Given the description of an element on the screen output the (x, y) to click on. 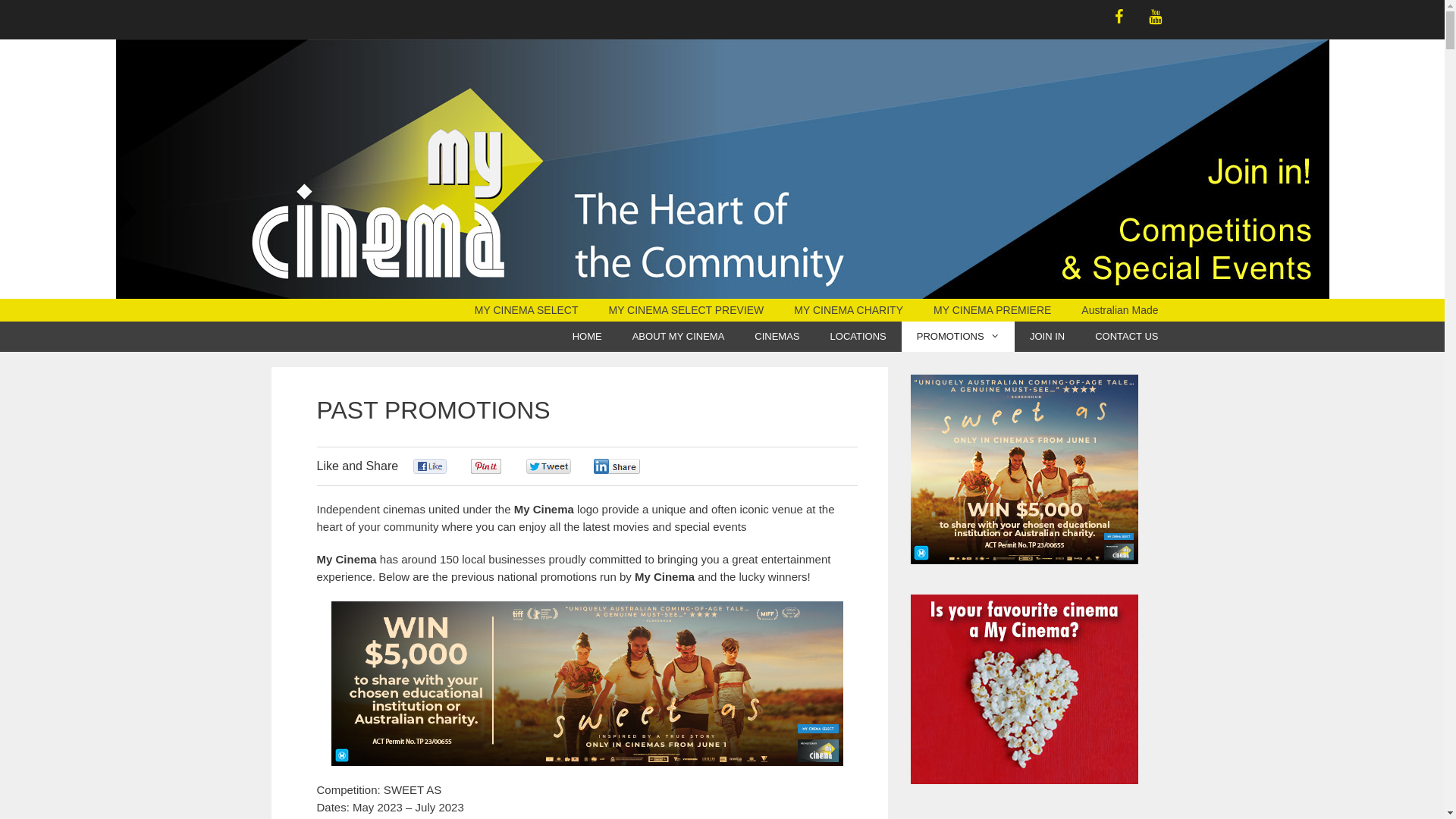
MY CINEMA SELECT Element type: text (526, 309)
Facebook Element type: hover (1119, 17)
CINEMAS Element type: text (776, 336)
My Cinema Element type: hover (721, 168)
MY CINEMA SELECT PREVIEW Element type: text (685, 309)
MY CINEMA CHARITY Element type: text (848, 309)
Australian Made Element type: text (1119, 309)
My Cinema Element type: hover (721, 167)
Be the first one to tweet this article! Element type: hover (564, 466)
HOME Element type: text (587, 336)
LOCATIONS Element type: text (858, 336)
PROMOTIONS Element type: text (957, 336)
YouTube Element type: hover (1155, 17)
MY CINEMA PREMIERE Element type: text (992, 309)
CONTACT US Element type: text (1126, 336)
JOIN IN Element type: text (1046, 336)
ABOUT MY CINEMA Element type: text (678, 336)
